Given the description of an element on the screen output the (x, y) to click on. 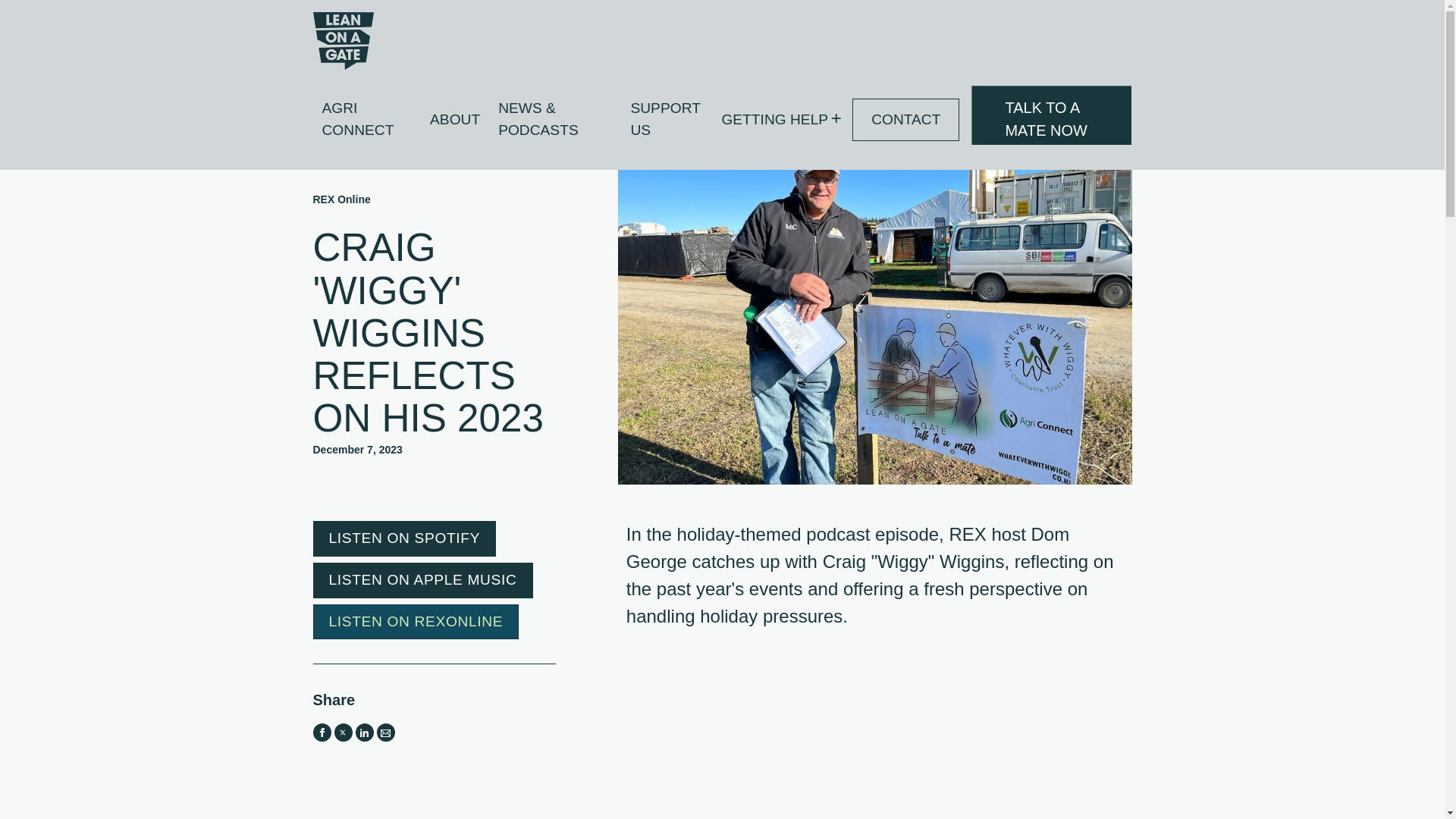
LISTEN ON APPLE MUSIC (422, 580)
Email (384, 732)
CONTACT (905, 119)
SUPPORT US (667, 119)
TALK TO A MATE NOW (1051, 127)
ALL POSTS (366, 155)
Share on LinkedIn (363, 732)
Tweet (342, 732)
Share on Facebook (321, 732)
ABOUT (454, 119)
